Given the description of an element on the screen output the (x, y) to click on. 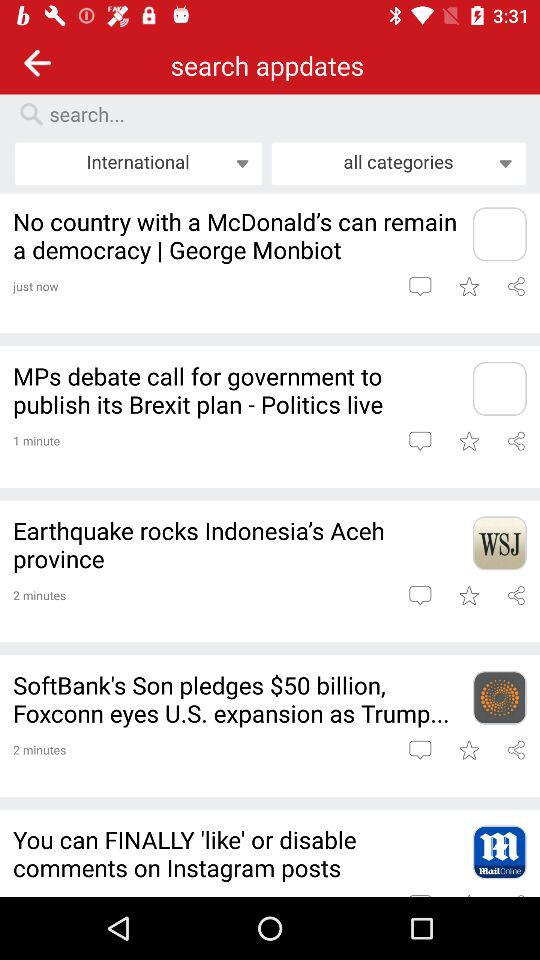
app (499, 543)
